Given the description of an element on the screen output the (x, y) to click on. 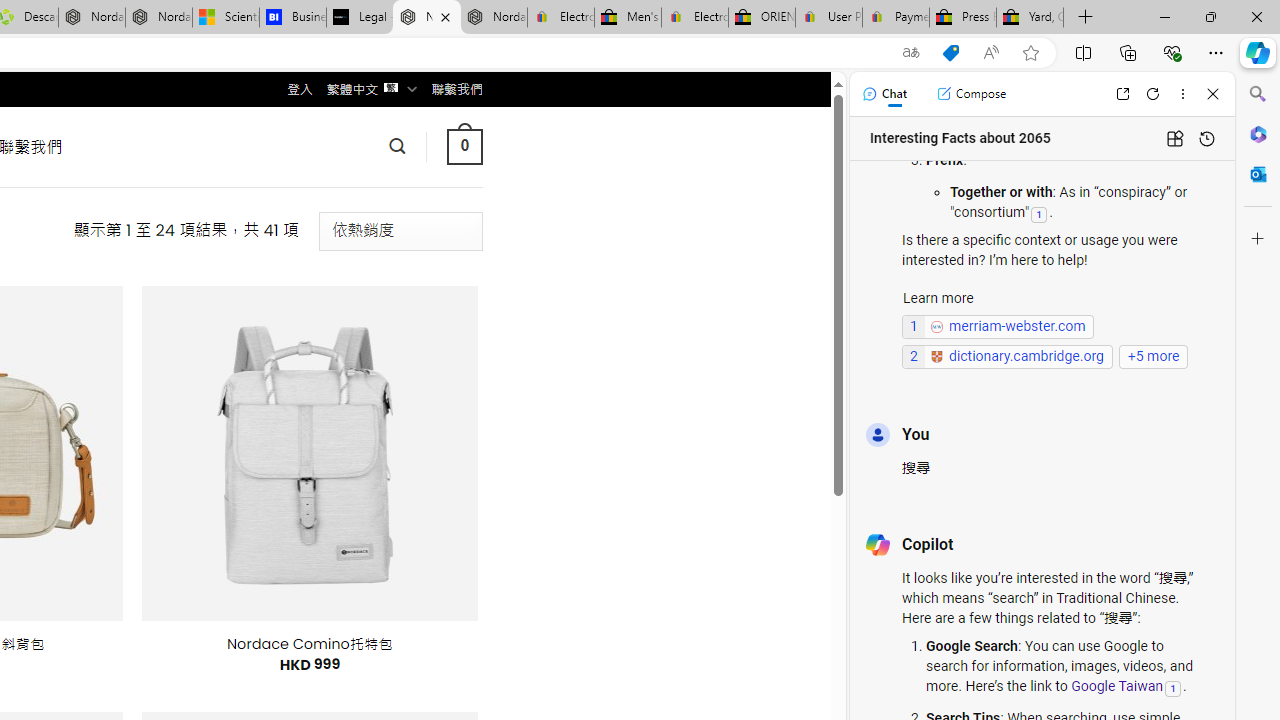
Show translate options (910, 53)
Yard, Garden & Outdoor Living (1030, 17)
Press Room - eBay Inc. (962, 17)
  0   (464, 146)
Payments Terms of Use | eBay.com (895, 17)
